Given the description of an element on the screen output the (x, y) to click on. 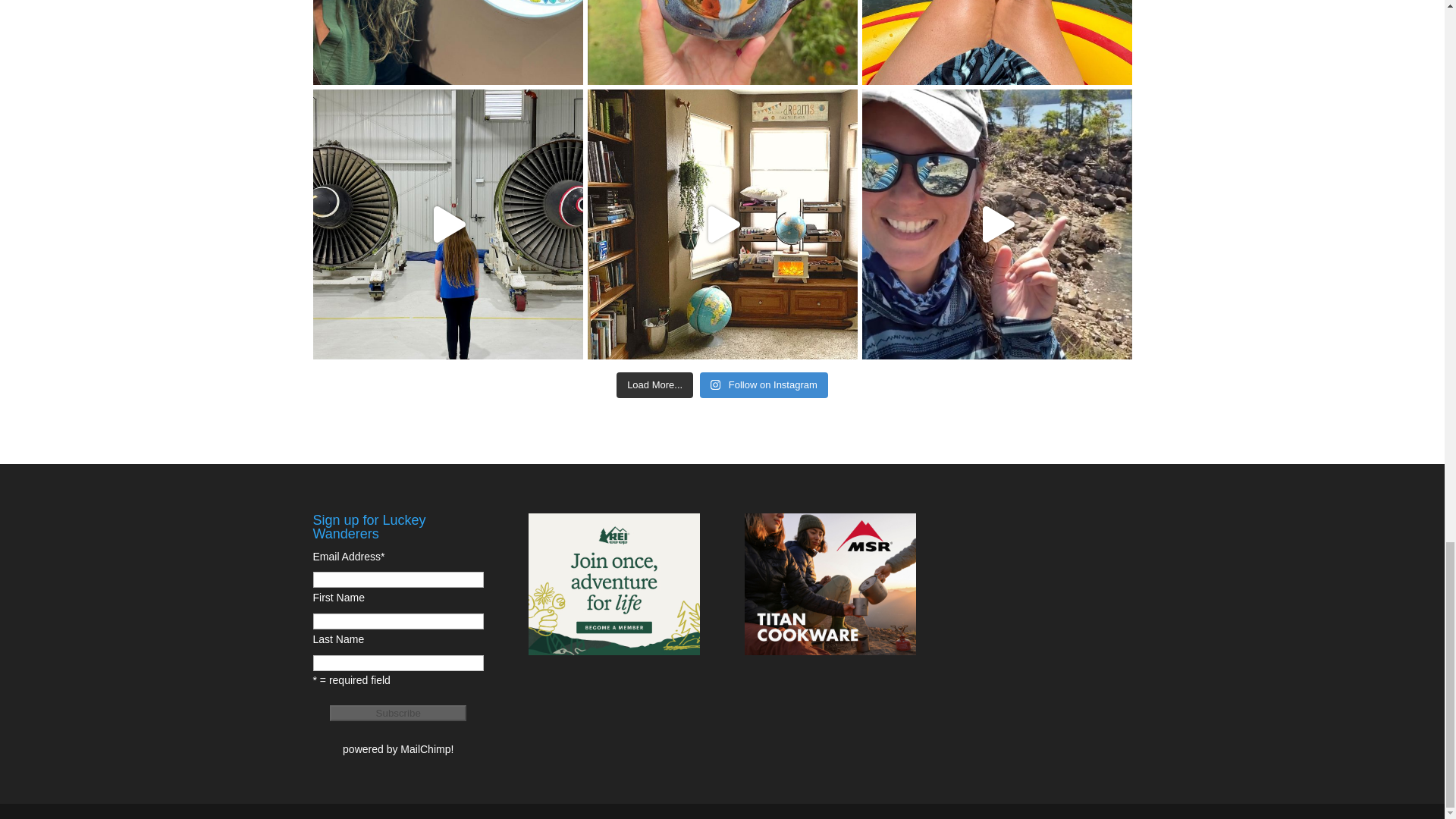
Subscribe (397, 713)
MailChimp (424, 748)
Subscribe (397, 713)
Follow on Instagram (764, 385)
Load More... (654, 385)
